Given the description of an element on the screen output the (x, y) to click on. 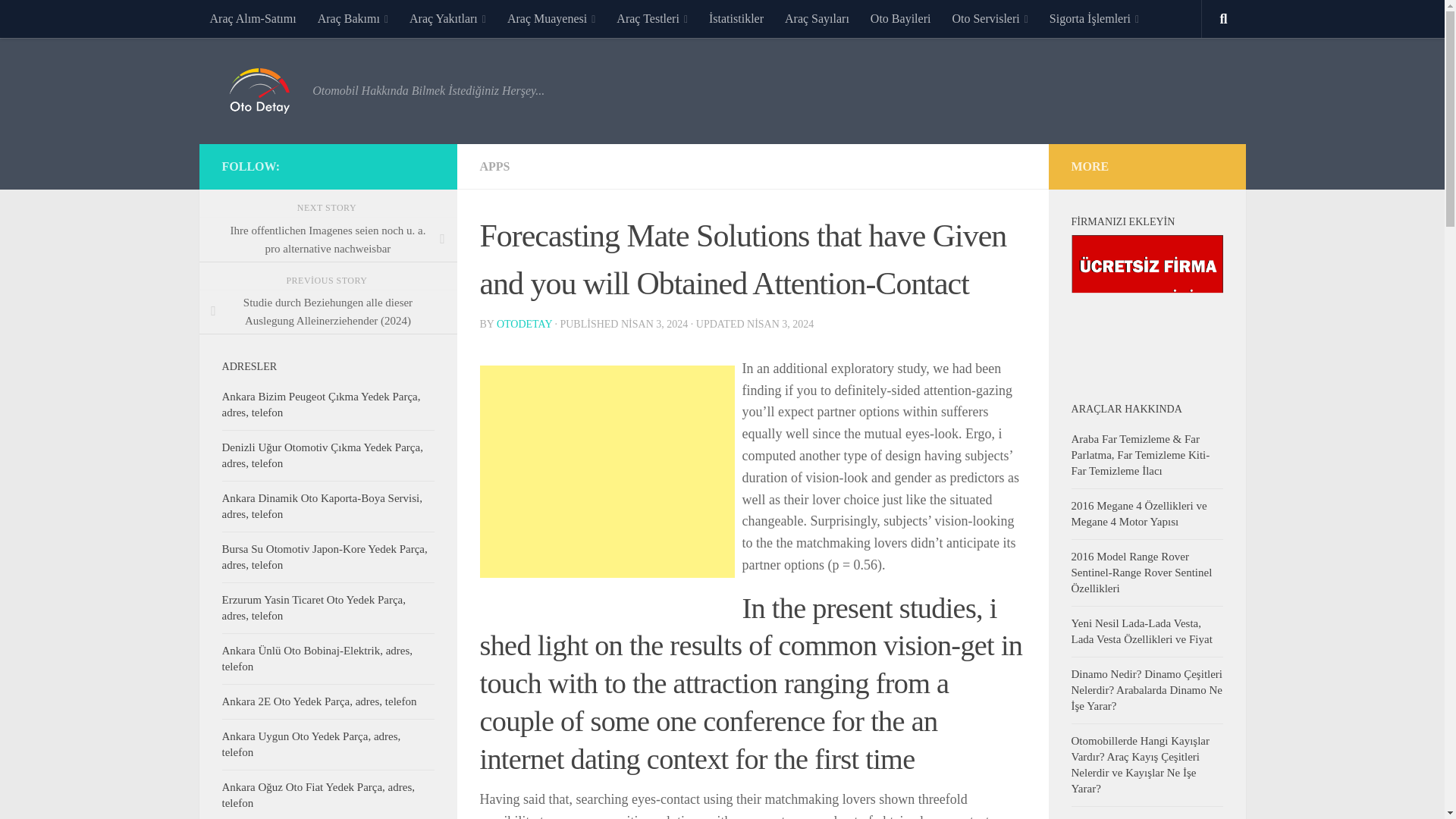
Skip to content (59, 20)
Advertisement (606, 471)
